Given the description of an element on the screen output the (x, y) to click on. 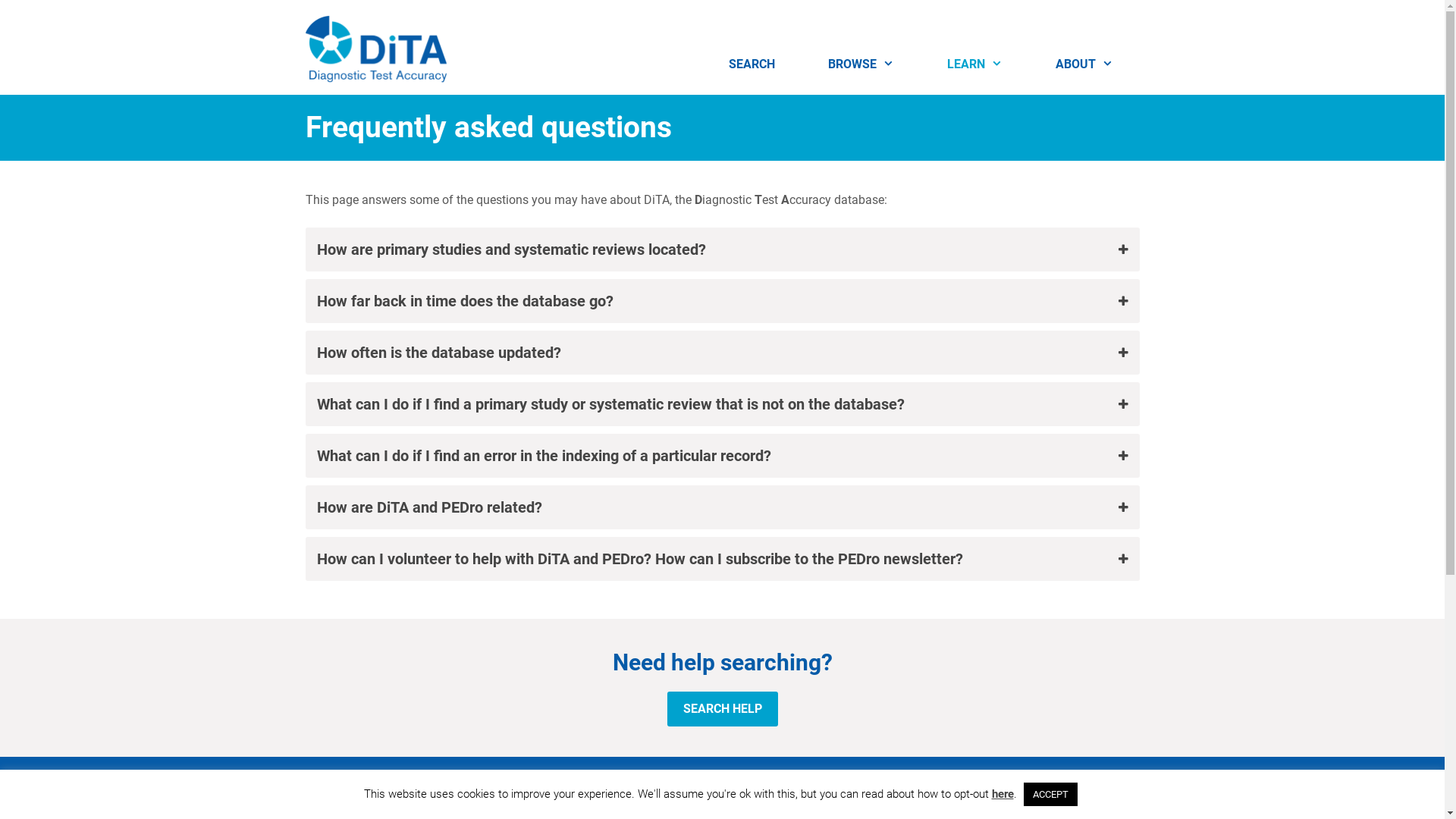
BROWSE Element type: text (860, 64)
ACCEPT Element type: text (1050, 794)
SEARCH HELP Element type: text (722, 708)
SEARCH HELP Element type: text (722, 708)
How far back in time does the database go? Element type: text (721, 301)
here Element type: text (1002, 793)
ABOUT Element type: text (1084, 64)
SEARCH Element type: text (751, 64)
How often is the database updated? Element type: text (721, 352)
How are DiTA and PEDro related? Element type: text (721, 507)
How are primary studies and systematic reviews located? Element type: text (721, 249)
LEARN Element type: text (974, 64)
